Given the description of an element on the screen output the (x, y) to click on. 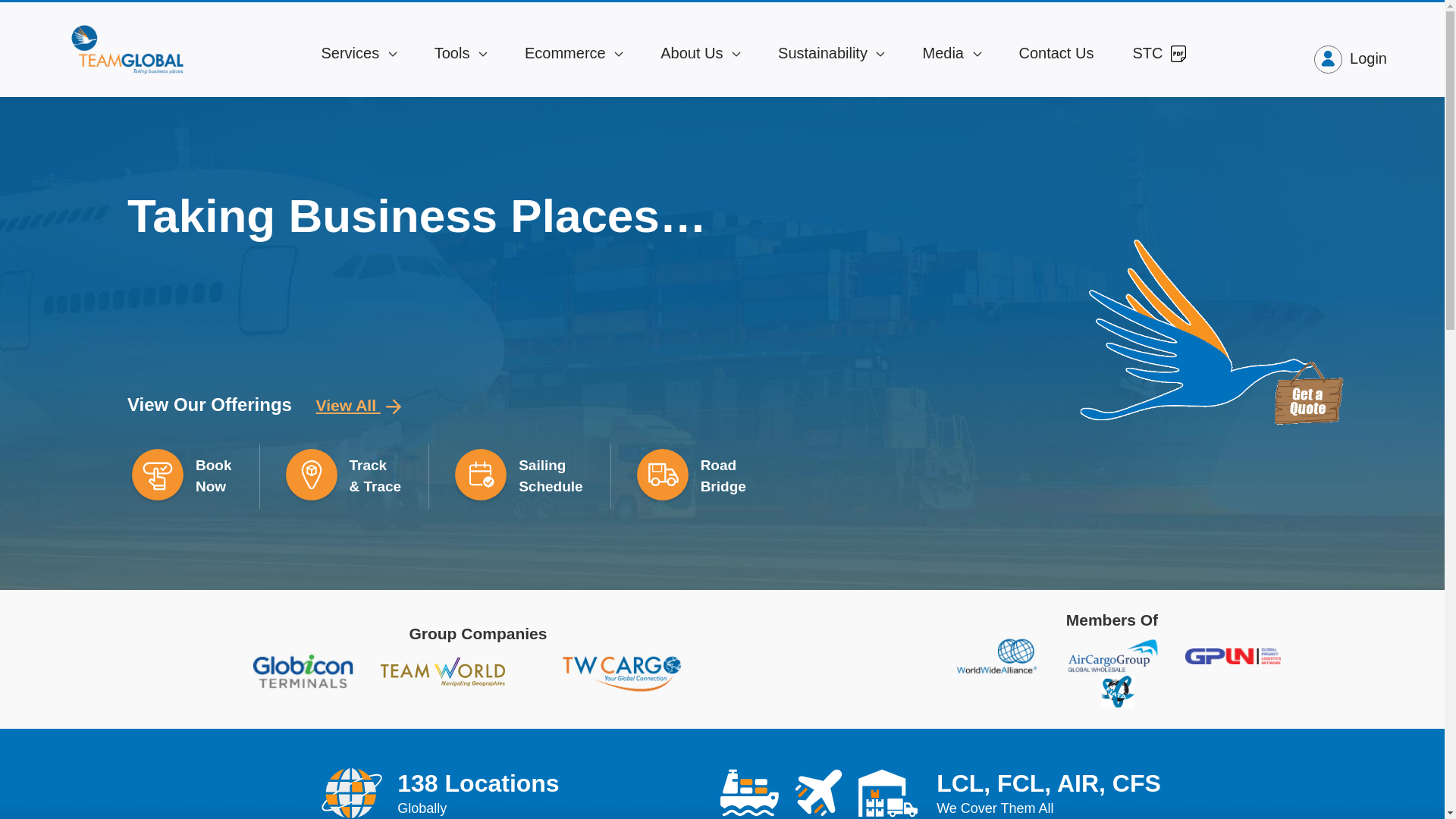
Media (951, 53)
Sustainability (830, 53)
Ecommerce (573, 53)
Tools (460, 53)
About Us (699, 53)
Services (357, 53)
